Given the description of an element on the screen output the (x, y) to click on. 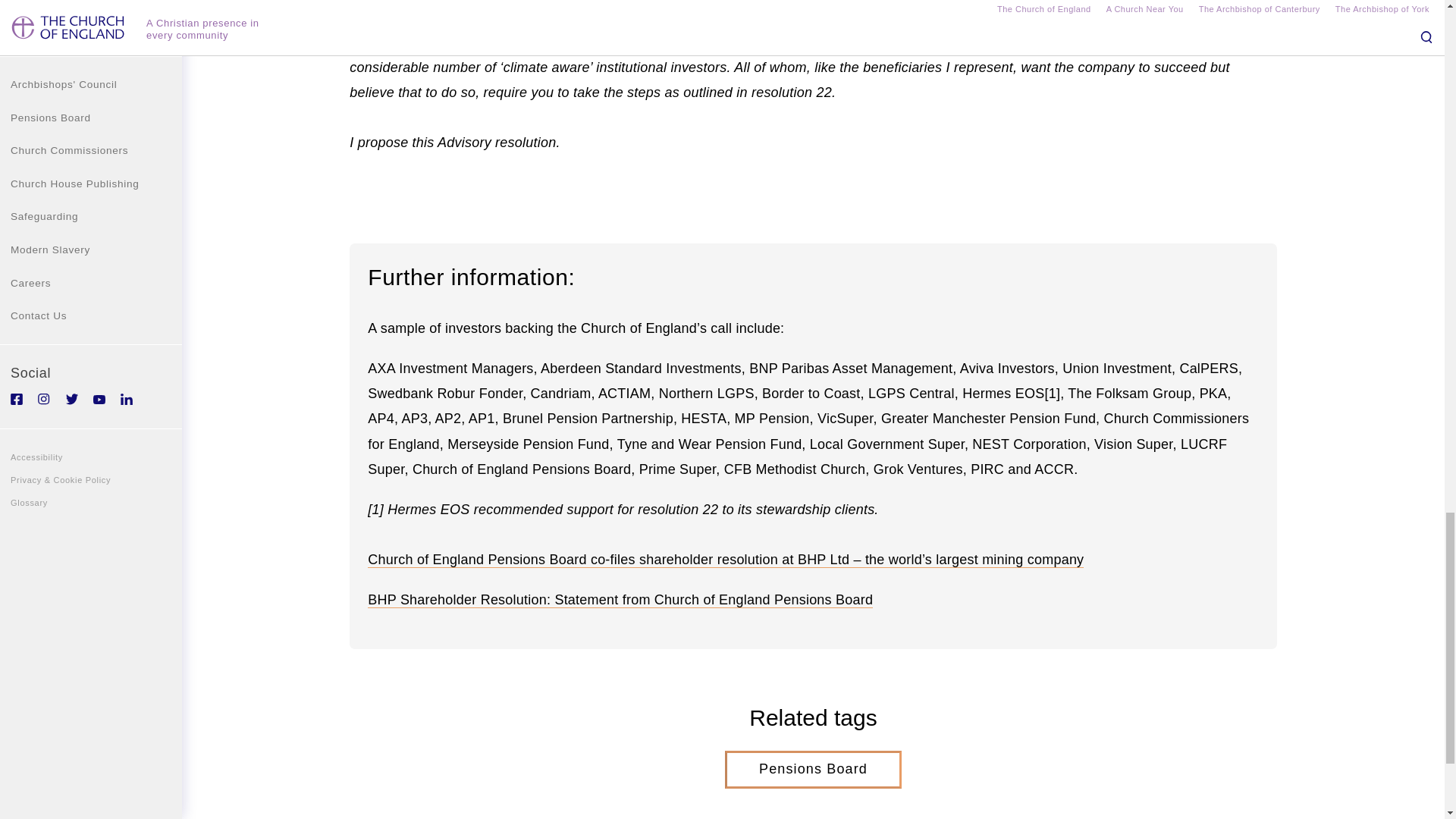
Pensions Board (813, 769)
